Given the description of an element on the screen output the (x, y) to click on. 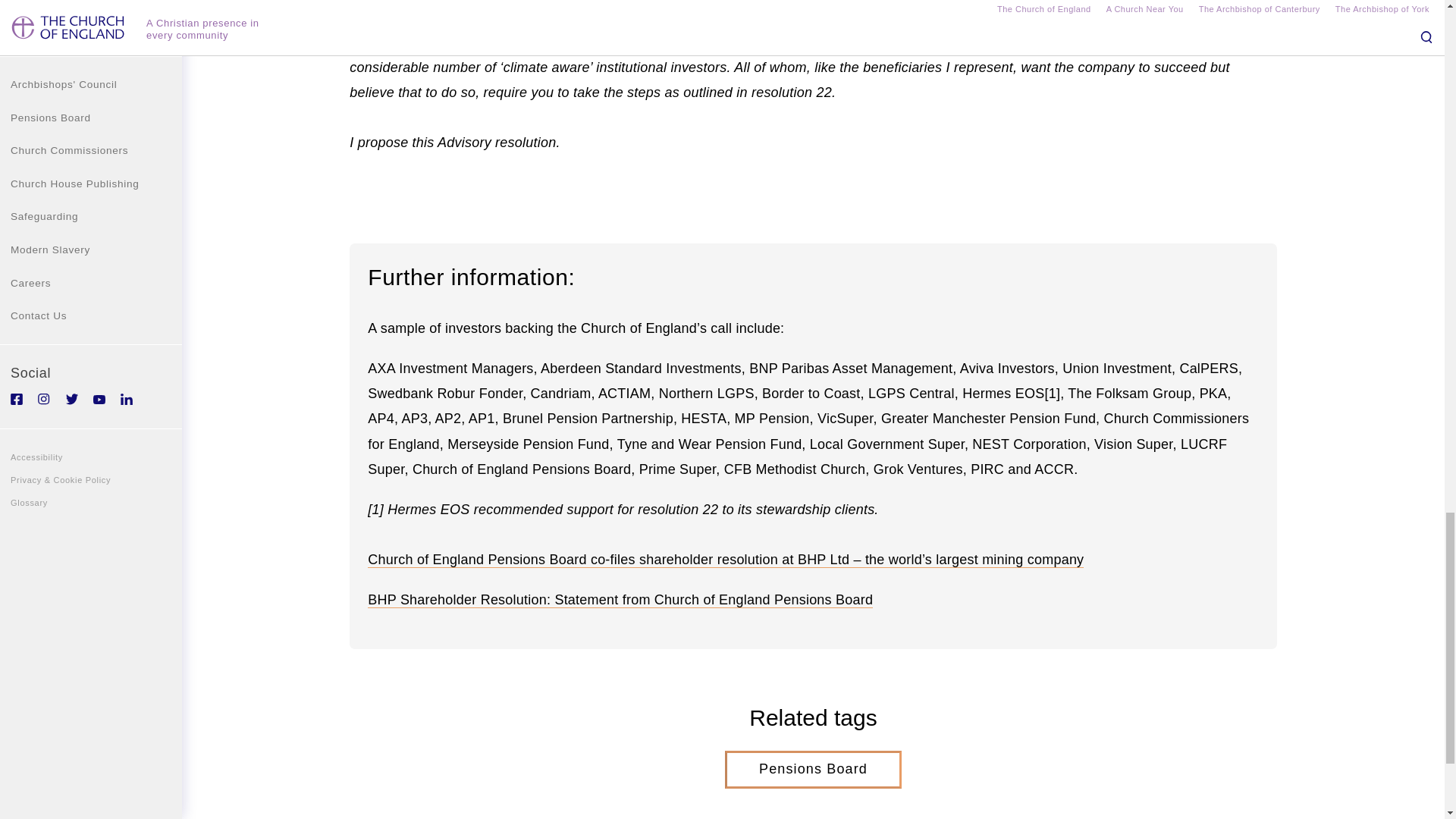
Pensions Board (813, 769)
